Given the description of an element on the screen output the (x, y) to click on. 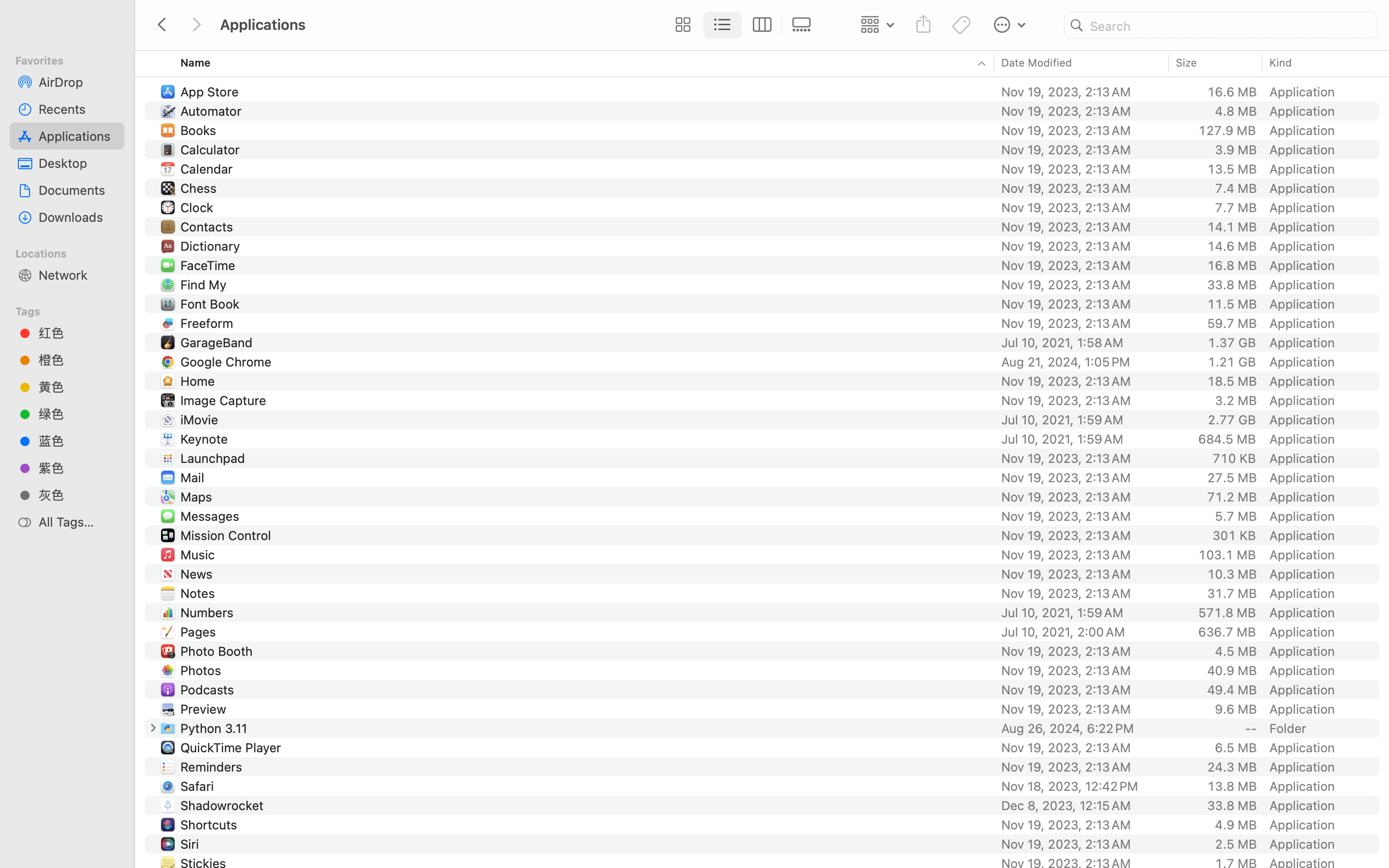
Chess Element type: AXTextField (200, 187)
Aug 21, 2024, 1:05 PM Element type: AXStaticText (1081, 361)
Shadowrocket Element type: AXTextField (224, 805)
18.5 MB Element type: AXStaticText (1231, 380)
Application Element type: AXStaticText (1303, 592)
